Given the description of an element on the screen output the (x, y) to click on. 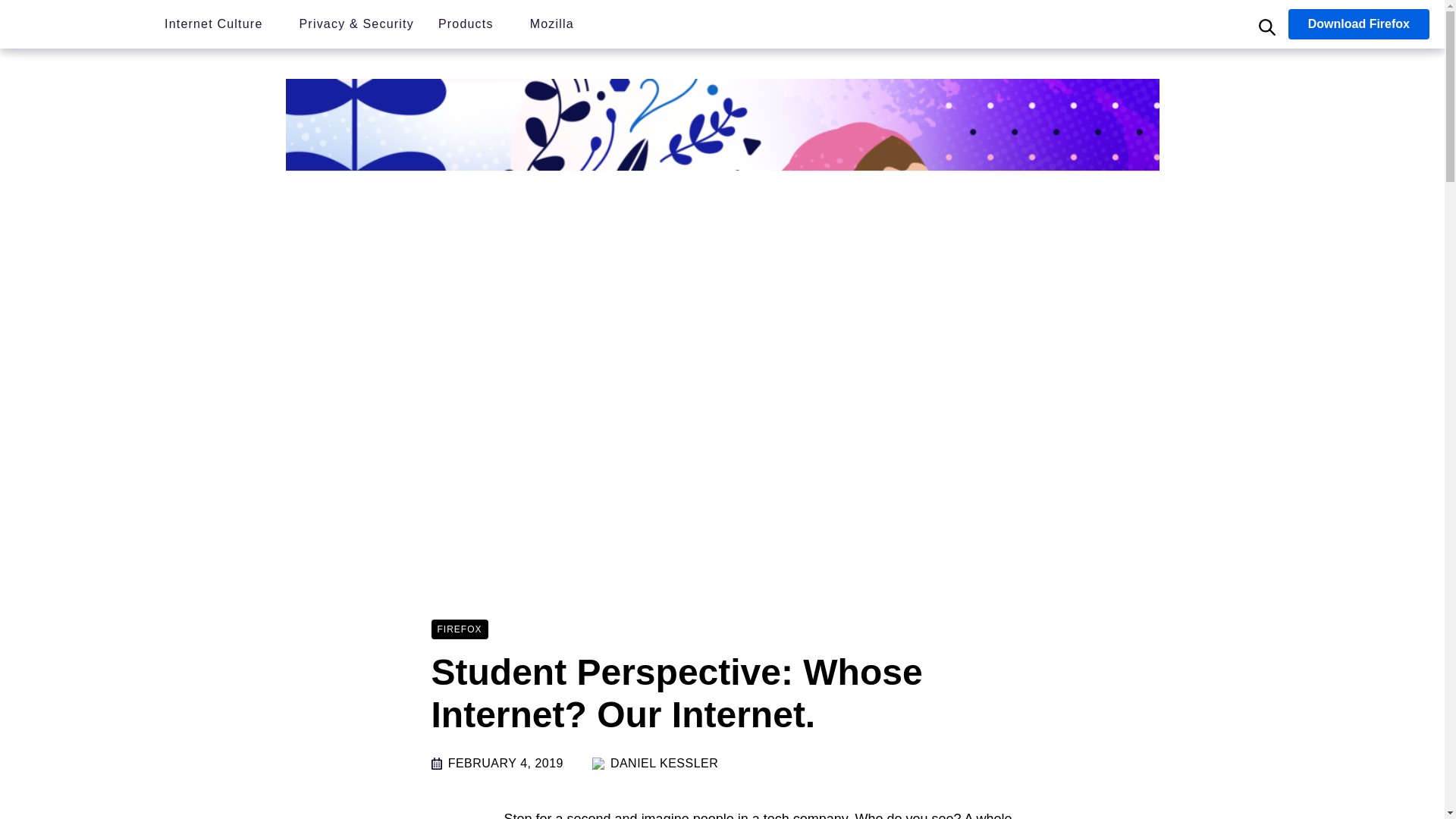
Posts by Daniel Kessler (663, 762)
FIREFOX (458, 627)
DANIEL KESSLER (663, 762)
Mozilla (76, 25)
Mozilla (551, 26)
Products (465, 26)
Download Firefox (1358, 24)
Internet Culture (213, 26)
